Given the description of an element on the screen output the (x, y) to click on. 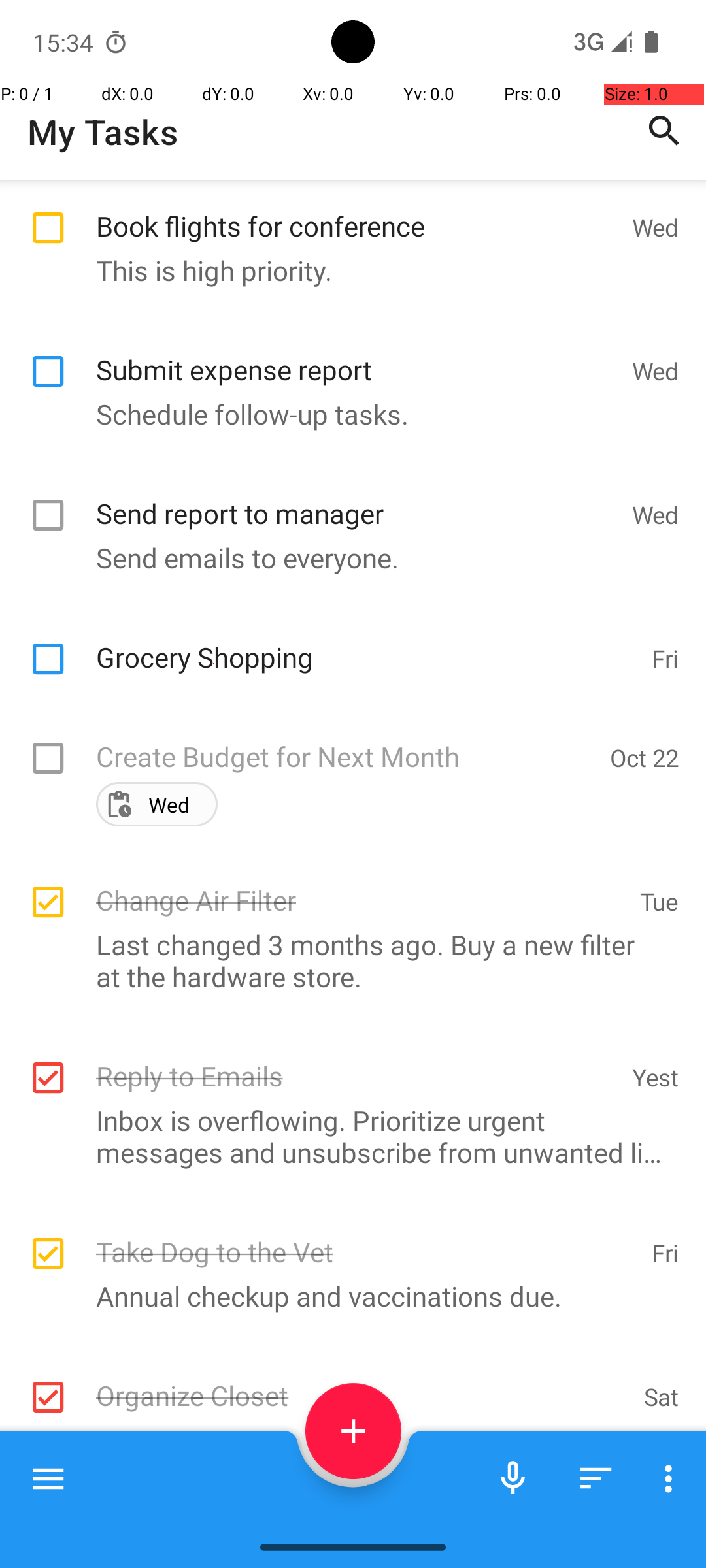
This is high priority. Element type: android.widget.TextView (346, 269)
Submit expense report Element type: android.widget.TextView (357, 355)
Schedule follow-up tasks. Element type: android.widget.TextView (346, 413)
Send report to manager Element type: android.widget.TextView (357, 499)
Send emails to everyone. Element type: android.widget.TextView (346, 557)
